Given the description of an element on the screen output the (x, y) to click on. 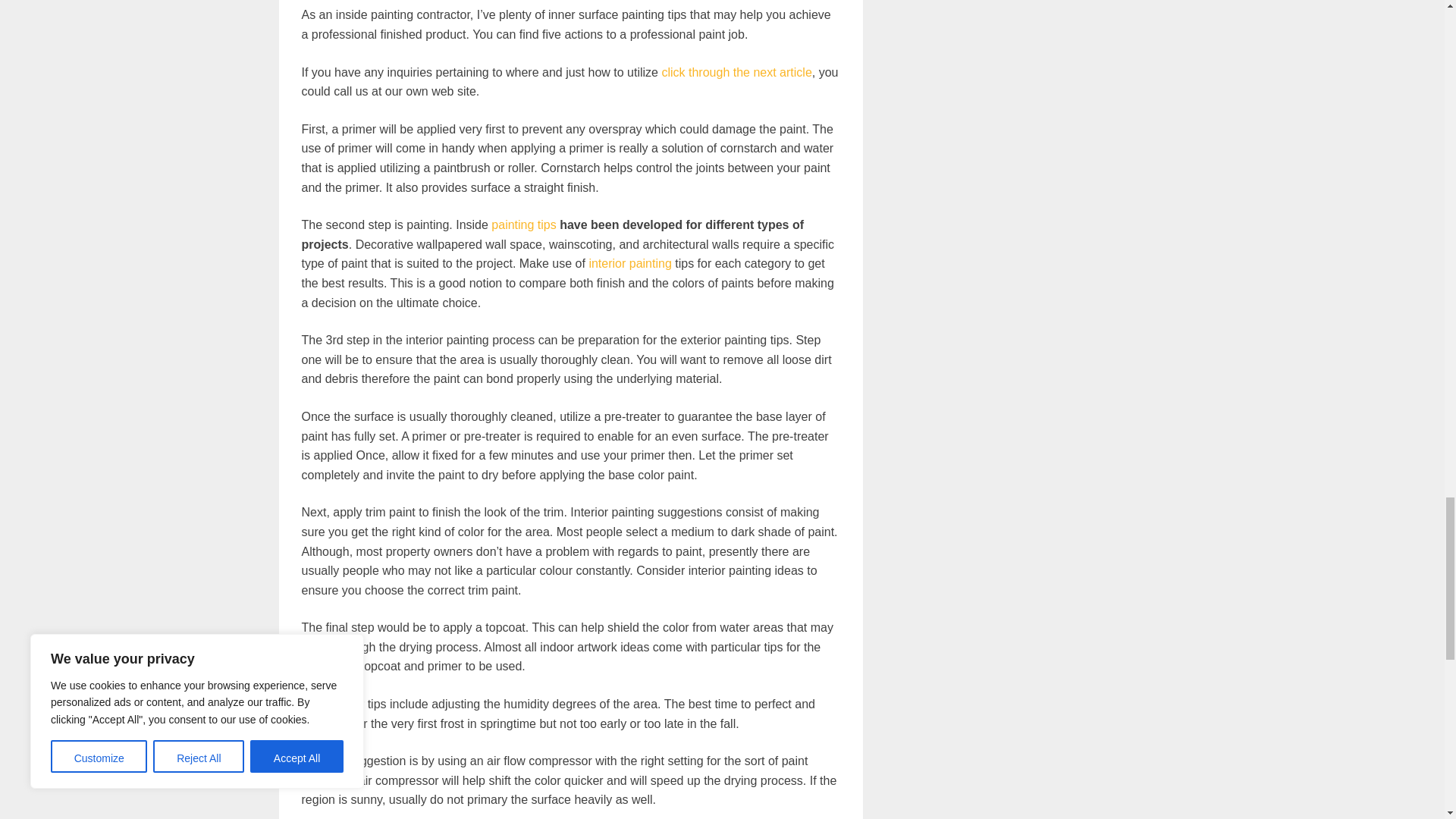
click through the next article (735, 72)
painting tips (524, 224)
interior painting (629, 263)
